Given the description of an element on the screen output the (x, y) to click on. 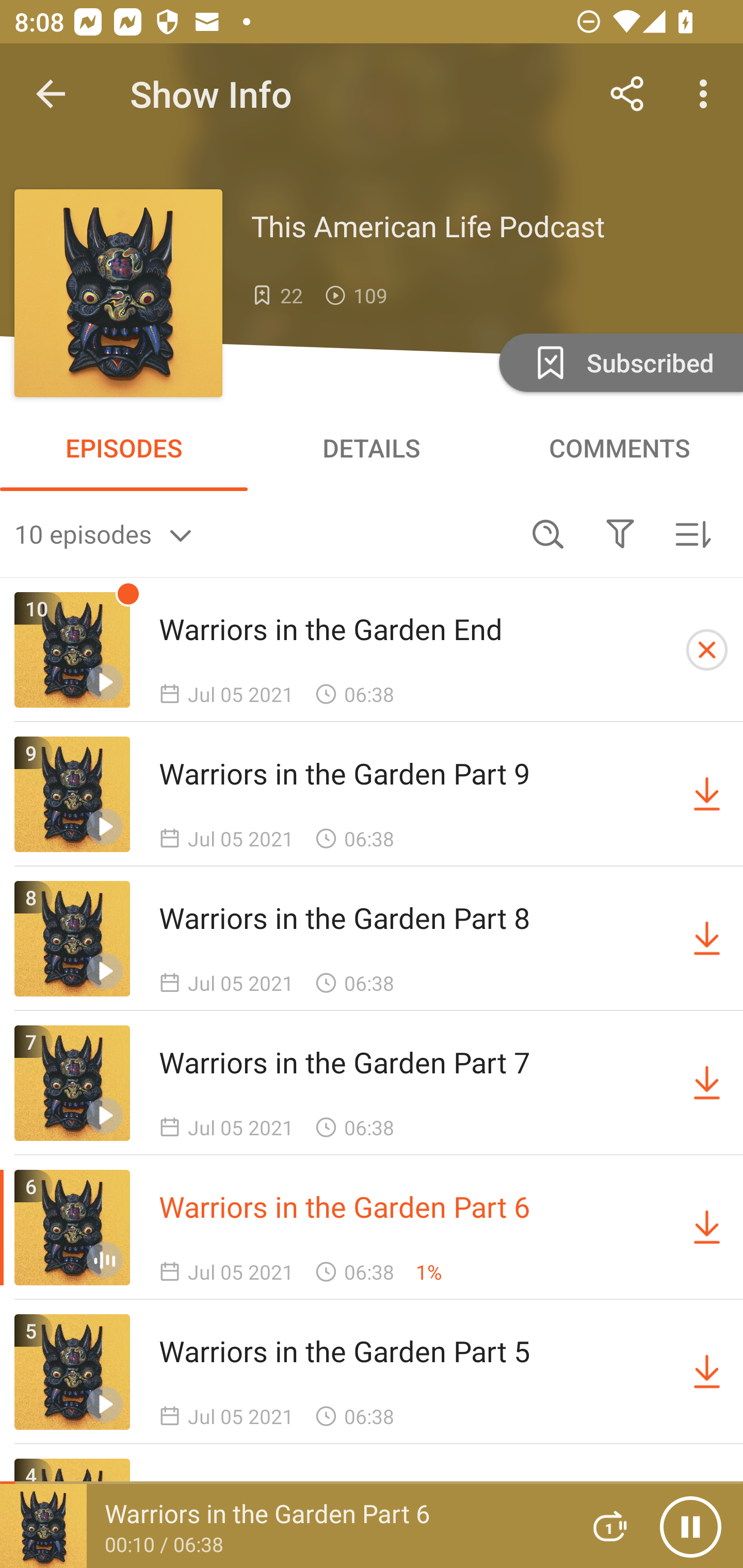
Navigate up (50, 93)
Share (626, 93)
More options (706, 93)
Unsubscribe Subscribed (619, 361)
EPISODES (123, 447)
DETAILS (371, 447)
COMMENTS (619, 447)
10 episodes  (262, 533)
 Search (547, 533)
 (619, 533)
 Sorted by newest first (692, 533)
Cancel Downloading (706, 649)
Download (706, 793)
Download (706, 939)
Download (706, 1083)
Download (706, 1227)
Download (706, 1371)
Warriors in the Garden Part 6 00:10 / 06:38 (283, 1525)
Pause (690, 1526)
